Given the description of an element on the screen output the (x, y) to click on. 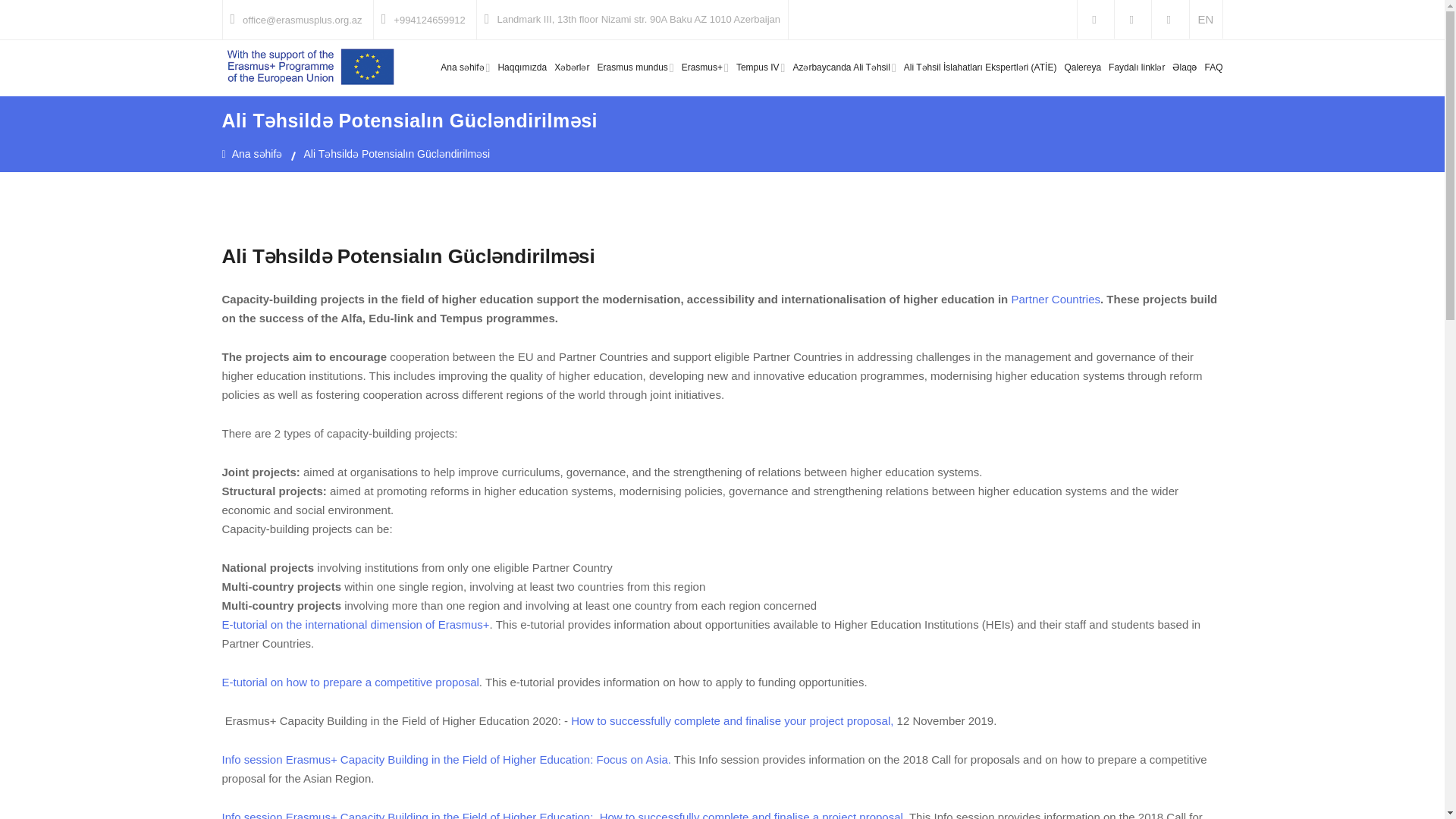
EN (1206, 19)
Erasmus mundus (634, 67)
Tempus IV (761, 67)
